Given the description of an element on the screen output the (x, y) to click on. 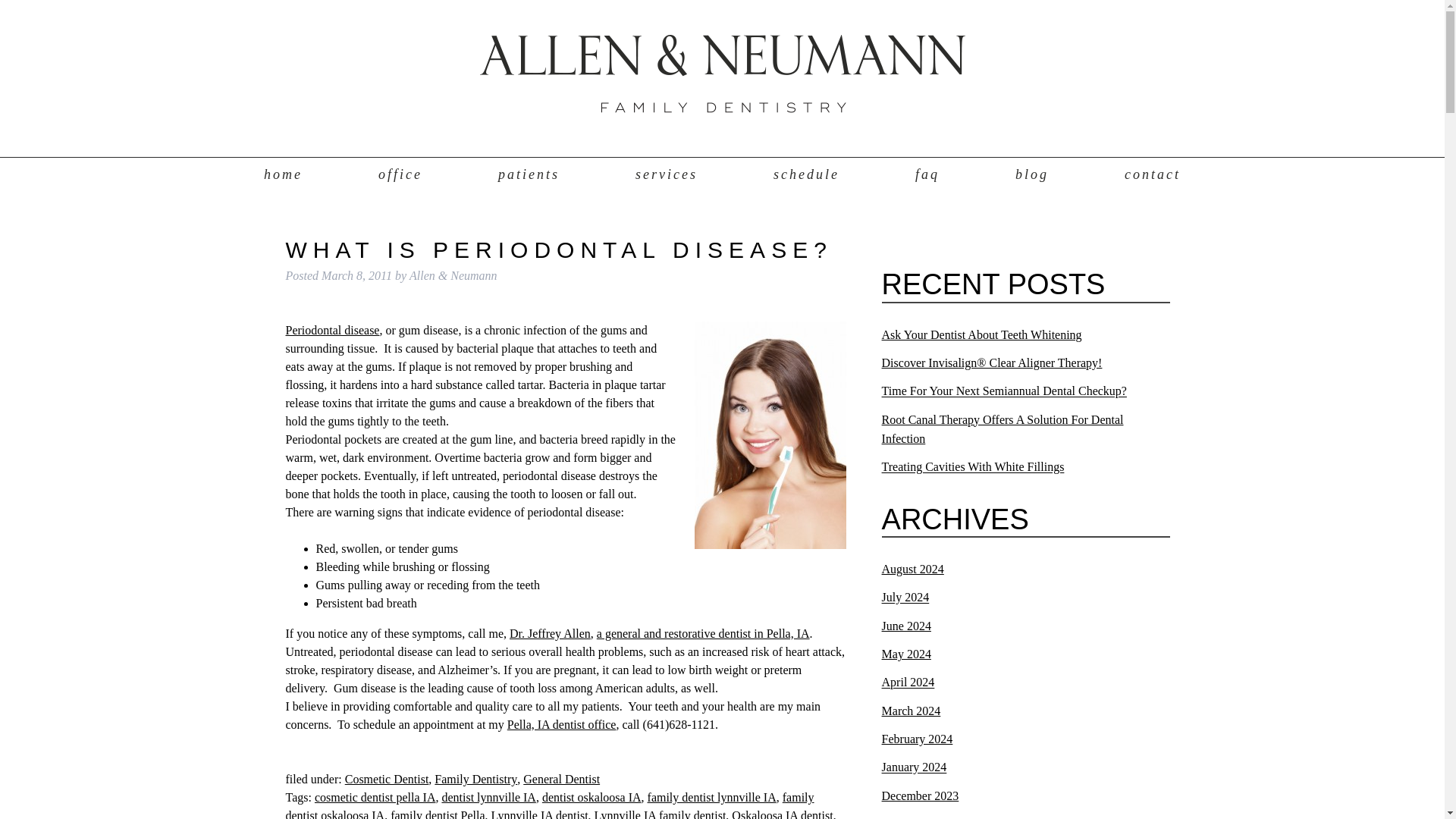
home (282, 174)
Dr. Jeffrey Allen (550, 633)
Oskaloosa IA dentist (782, 814)
schedule (806, 174)
family dentist oskaloosa IA (549, 805)
General Dentist (560, 779)
dentist oskaloosa IA (591, 797)
contact (1152, 174)
faq (926, 174)
blog (1031, 174)
